Given the description of an element on the screen output the (x, y) to click on. 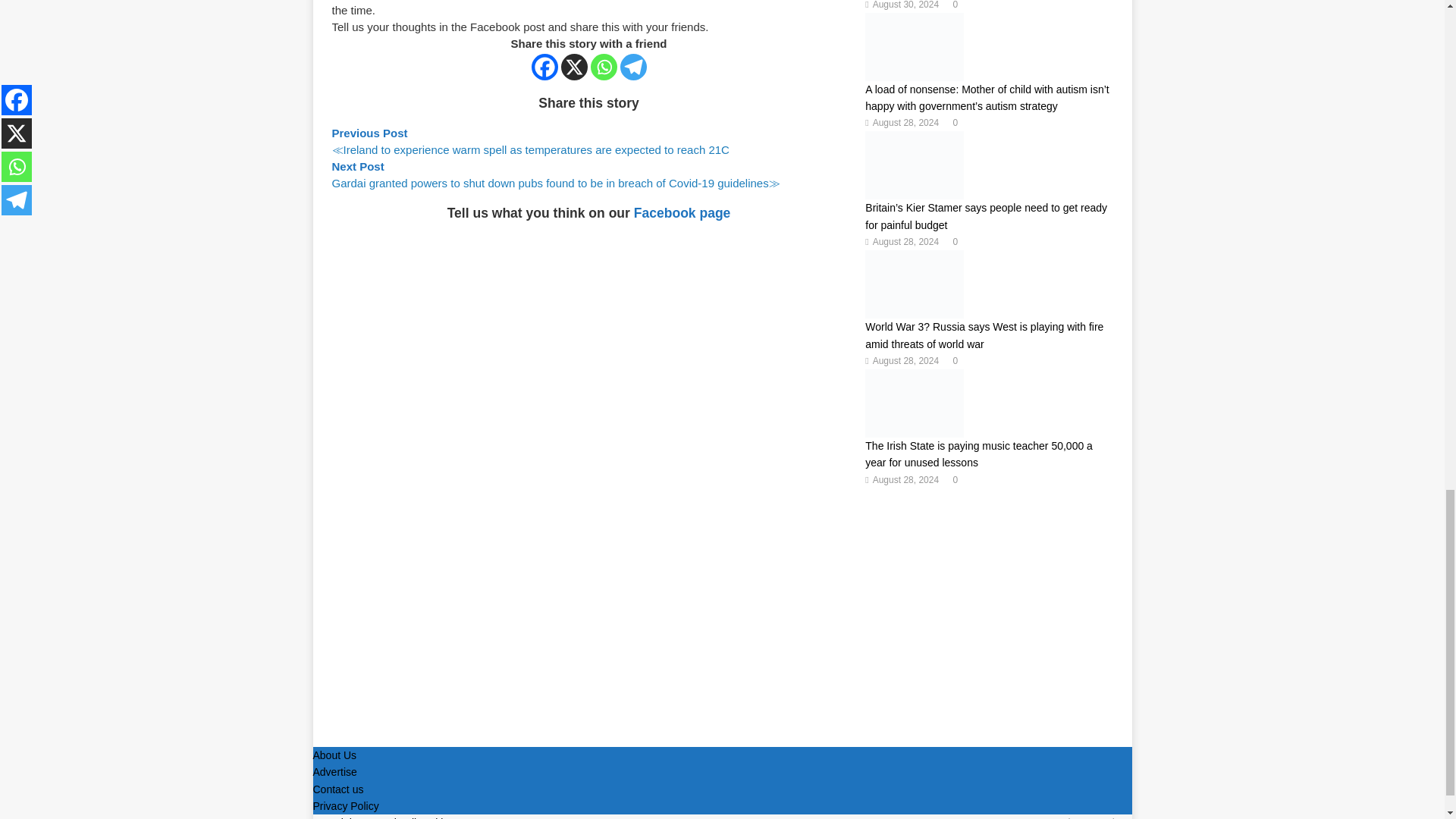
Facebook (544, 67)
Whatsapp (604, 67)
Facebook page (681, 212)
X (574, 67)
Telegram (633, 67)
